Given the description of an element on the screen output the (x, y) to click on. 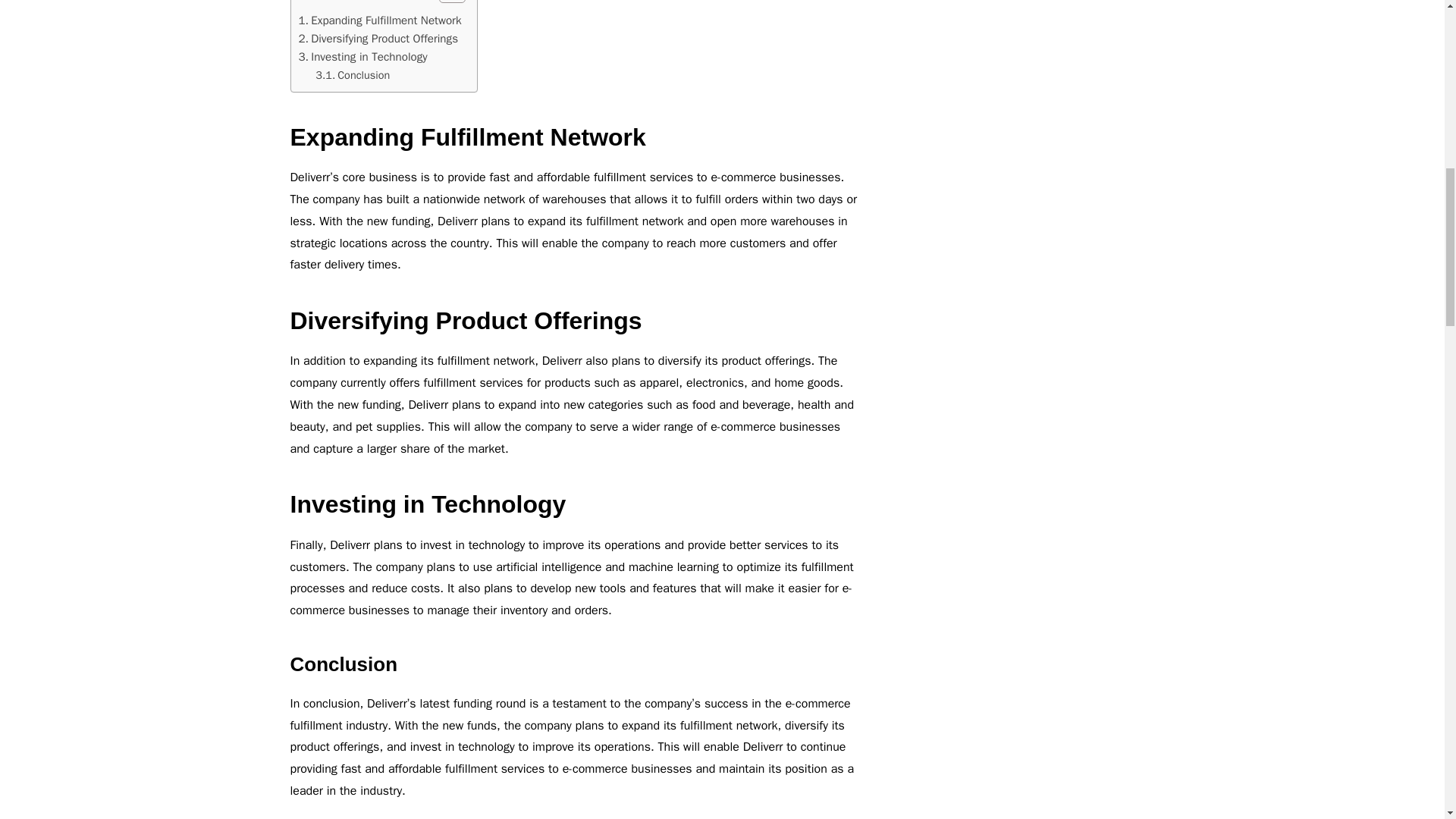
Conclusion (352, 75)
Expanding Fulfillment Network (379, 20)
Expanding Fulfillment Network (379, 20)
Investing in Technology (363, 56)
Diversifying Product Offerings (378, 38)
Investing in Technology (363, 56)
Diversifying Product Offerings (378, 38)
Conclusion (352, 75)
